Given the description of an element on the screen output the (x, y) to click on. 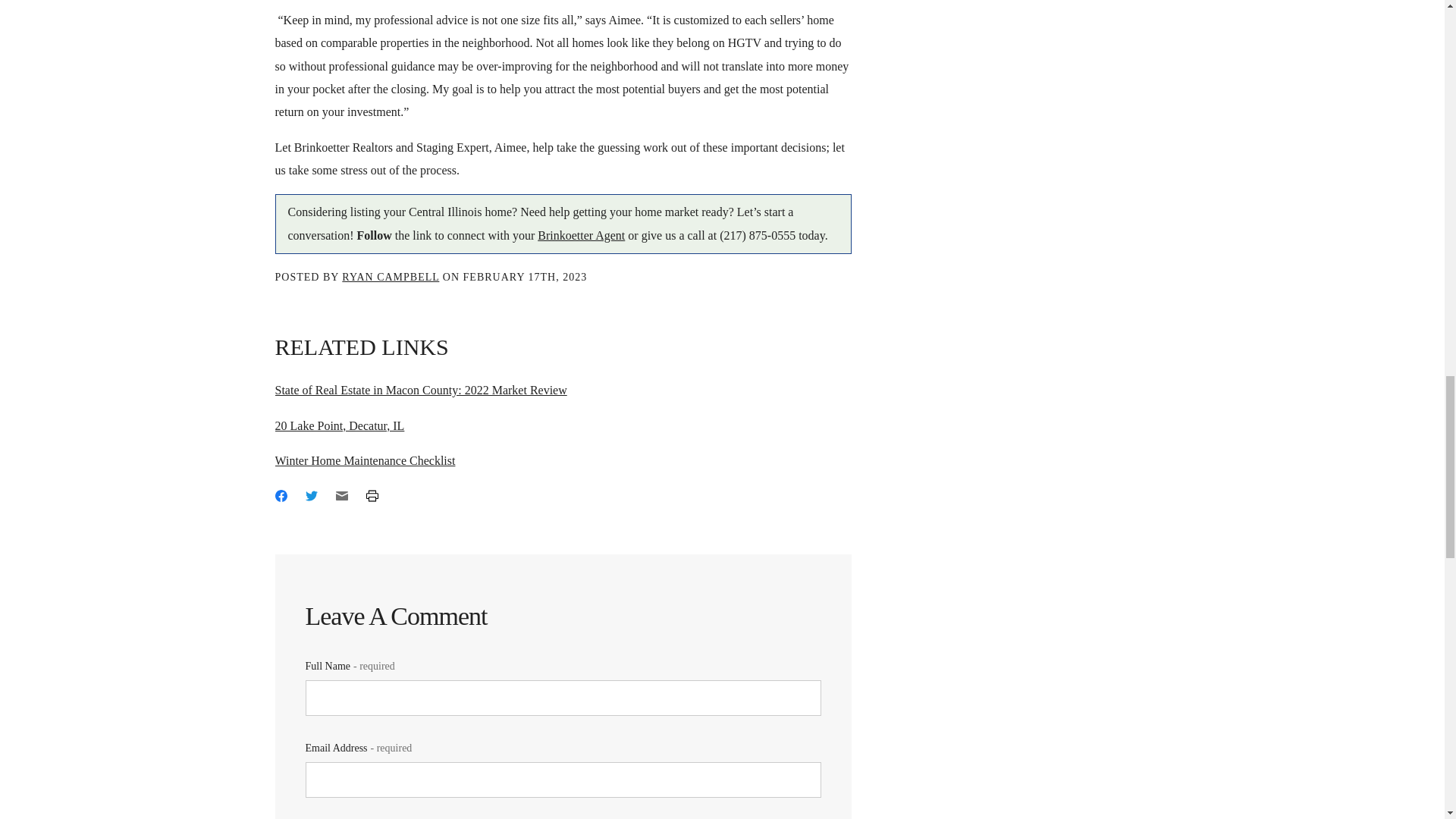
State of Real Estate in Macon County: 2022 Market Review (420, 390)
Winter Home Maintenance Checklist (364, 460)
RYAN CAMPBELL (390, 276)
State of Real Estate in Macon County: 2022 Market Review (420, 390)
Brinkoetter Agent (580, 235)
20 Lake Point, Decatur, IL (339, 425)
